Given the description of an element on the screen output the (x, y) to click on. 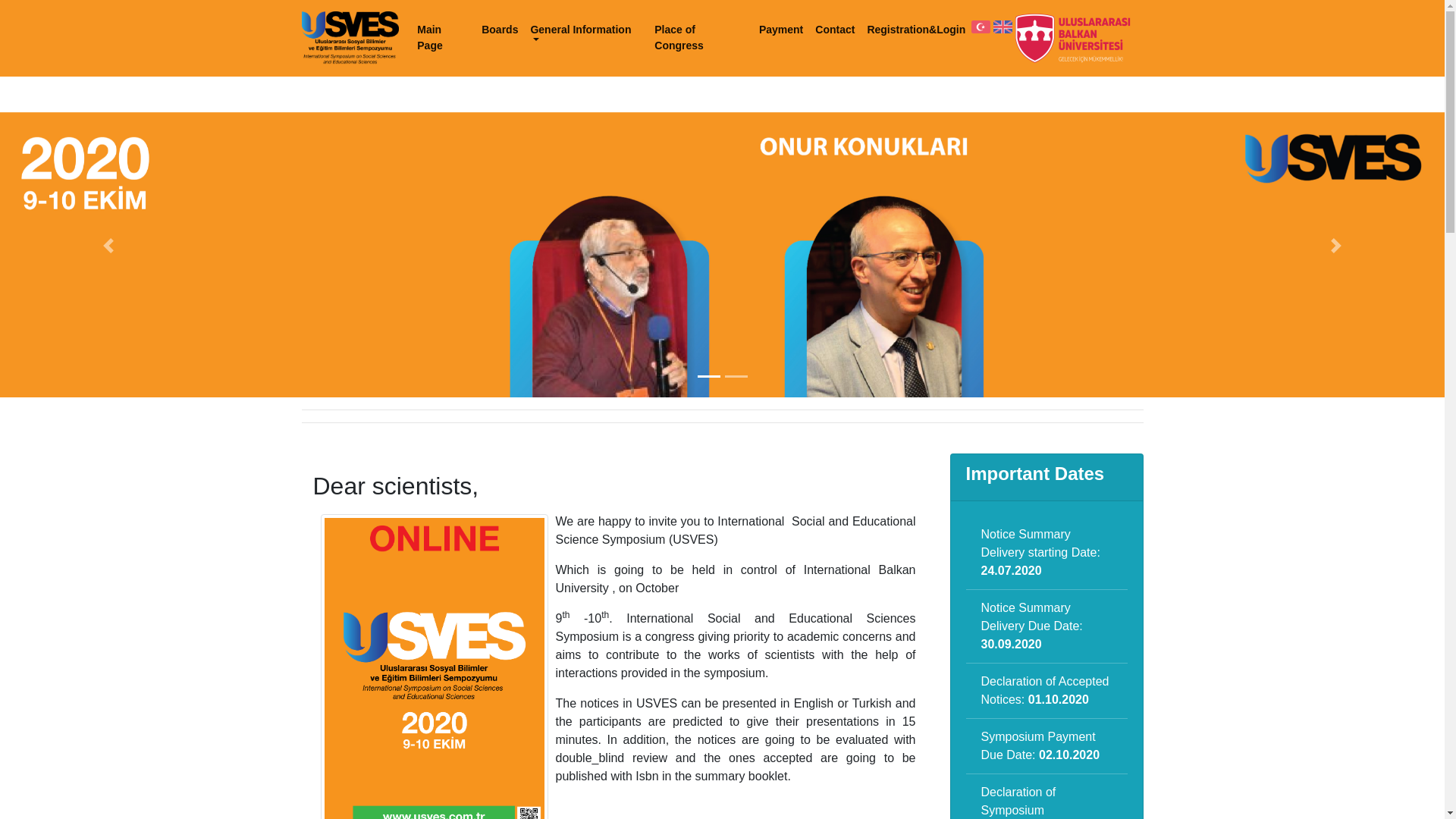
General Information (585, 30)
Previous (108, 245)
Boards (500, 29)
Payment (780, 29)
Place of Congress (699, 37)
Contact (834, 29)
